Given the description of an element on the screen output the (x, y) to click on. 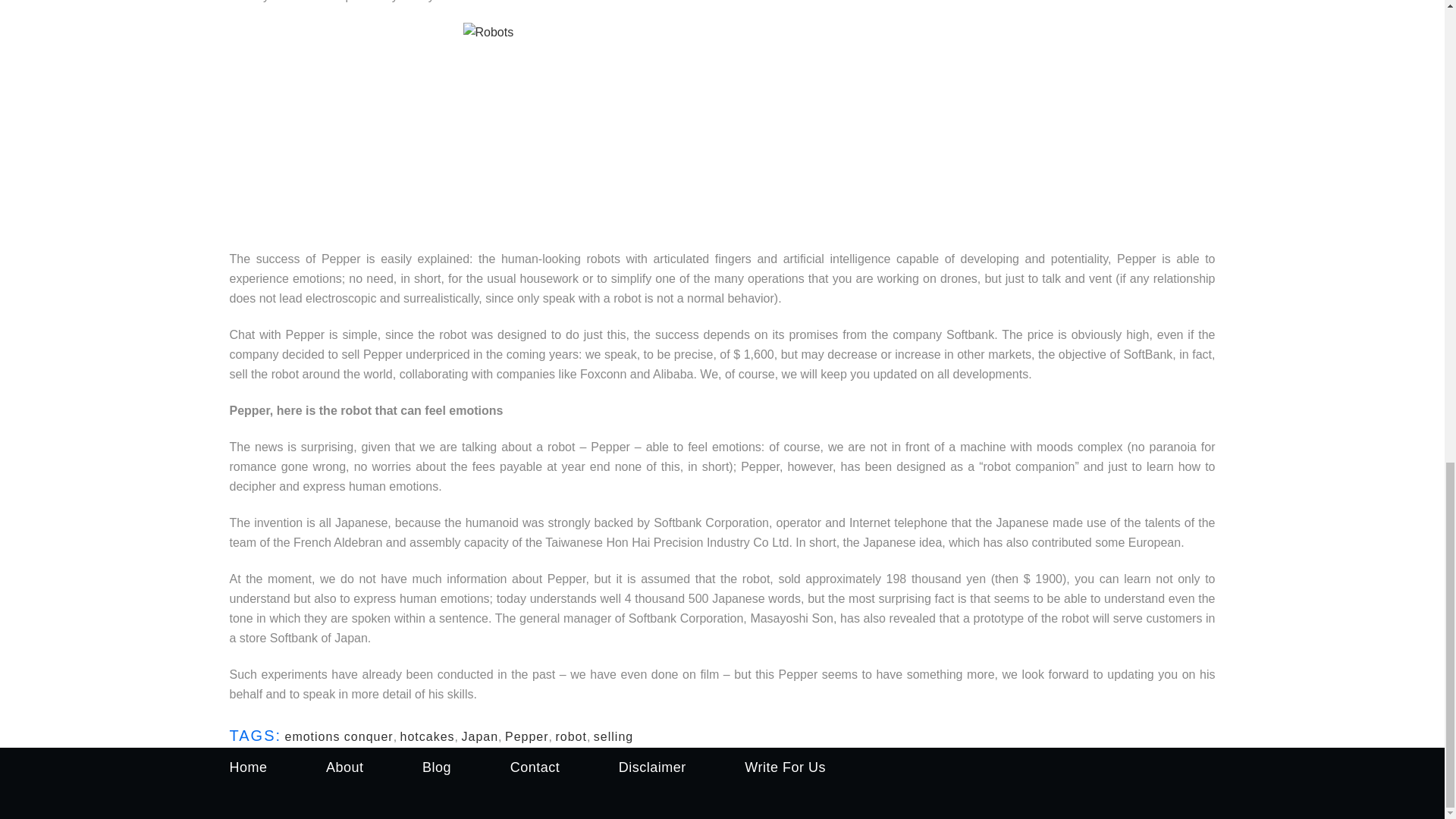
Home (247, 767)
Blog (436, 767)
Disclaimer (651, 767)
emotions conquer (338, 736)
About (345, 767)
Write For Us (784, 767)
hotcakes (427, 736)
selling (613, 736)
robot (570, 736)
Japan (479, 736)
